Given the description of an element on the screen output the (x, y) to click on. 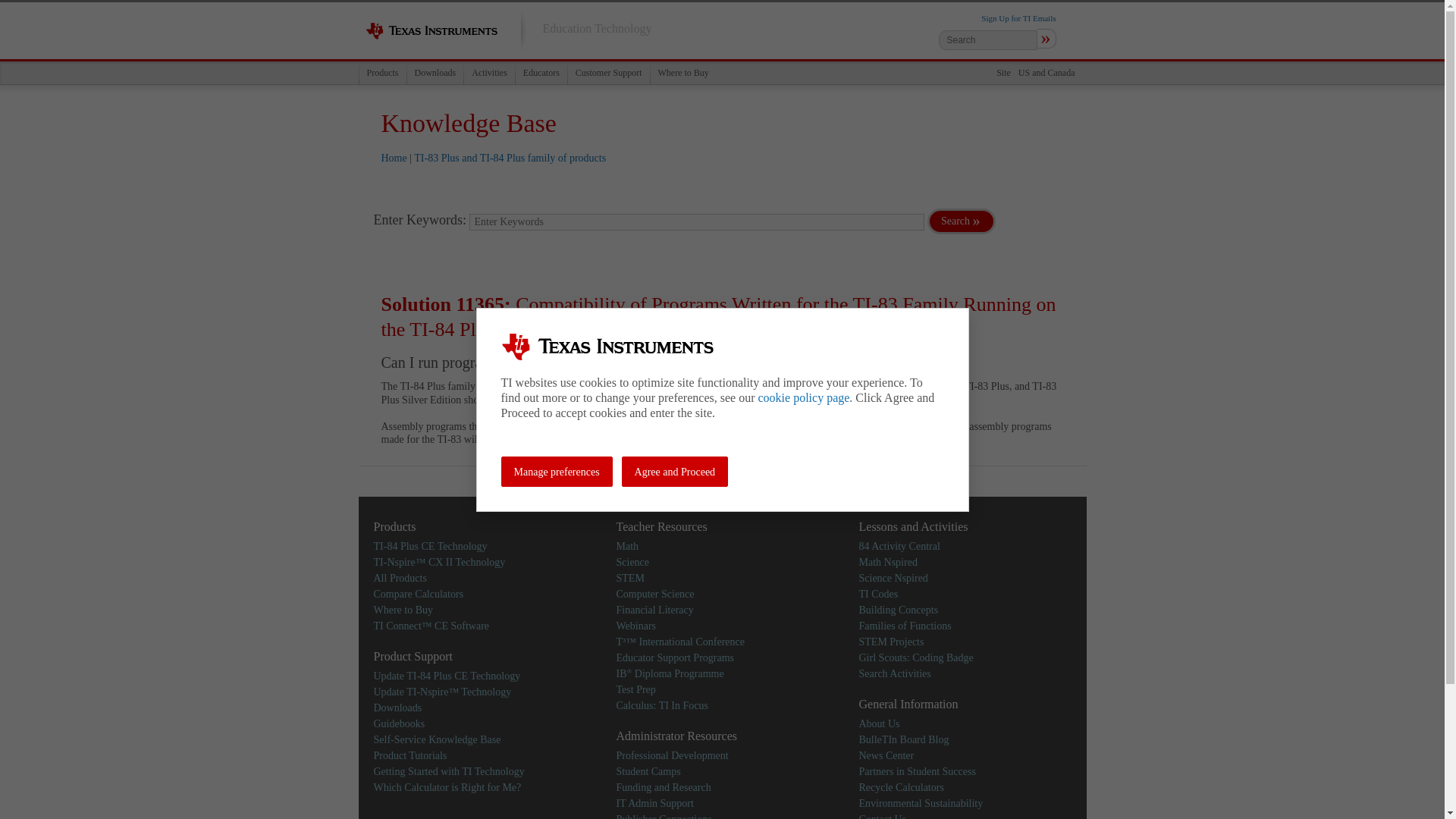
Update TI-Nspire Technology (441, 690)
Compare Calculators (417, 593)
TI Connect CE Software (430, 625)
Getting Started with TI Technology (448, 771)
Guidebooks (398, 722)
Activities (489, 73)
TI-84 Plus CE Technology (429, 545)
Where to Buy (402, 609)
Educators (541, 73)
Product Tutorials (409, 754)
Science (632, 562)
Sign Up for TI Emails (1018, 17)
Update TI-84 Plus CE Technology (445, 675)
Downloads (435, 73)
Downloads (397, 707)
